Given the description of an element on the screen output the (x, y) to click on. 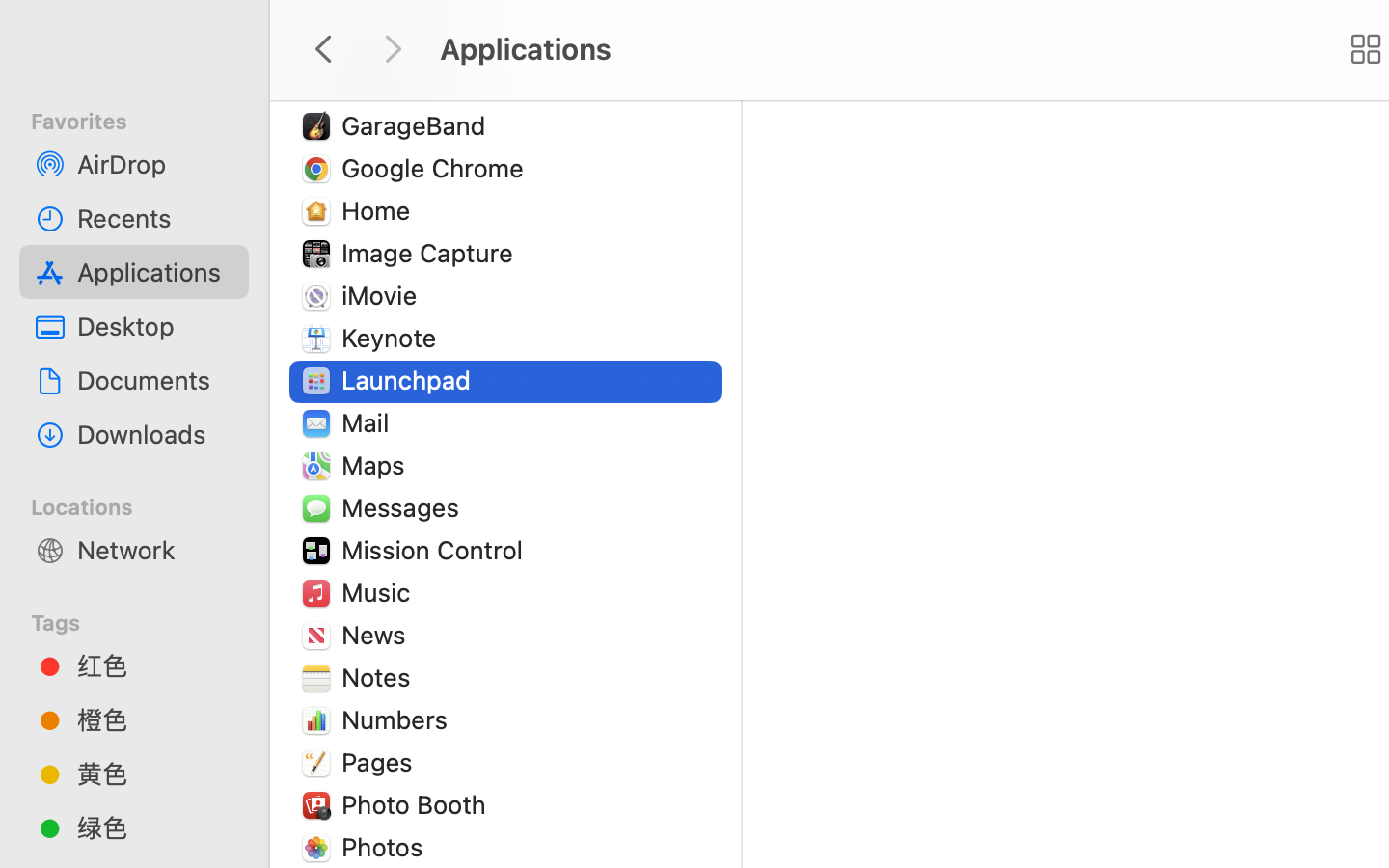
Keynote Element type: AXTextField (393, 337)
GarageBand Element type: AXTextField (417, 124)
Maps Element type: AXTextField (376, 464)
Downloads Element type: AXStaticText (155, 433)
Pages Element type: AXTextField (380, 761)
